Given the description of an element on the screen output the (x, y) to click on. 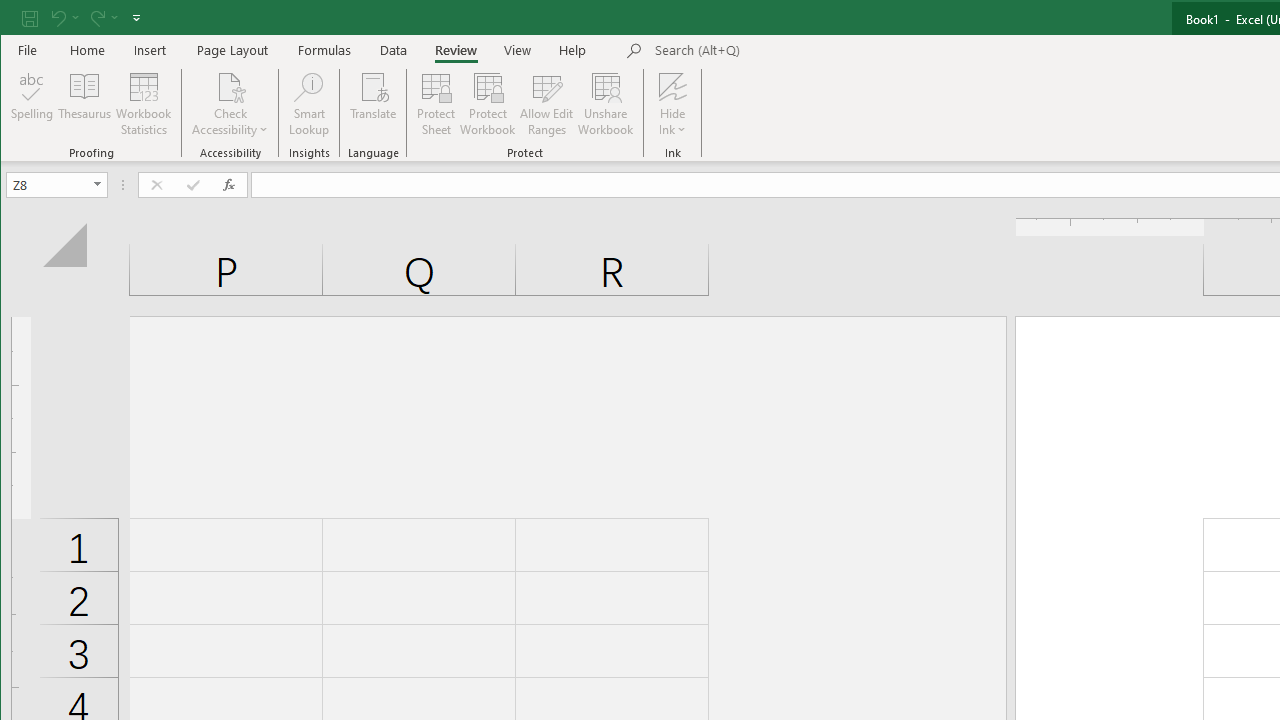
Translate (373, 104)
Protect Sheet... (436, 104)
Workbook Statistics (143, 104)
